Given the description of an element on the screen output the (x, y) to click on. 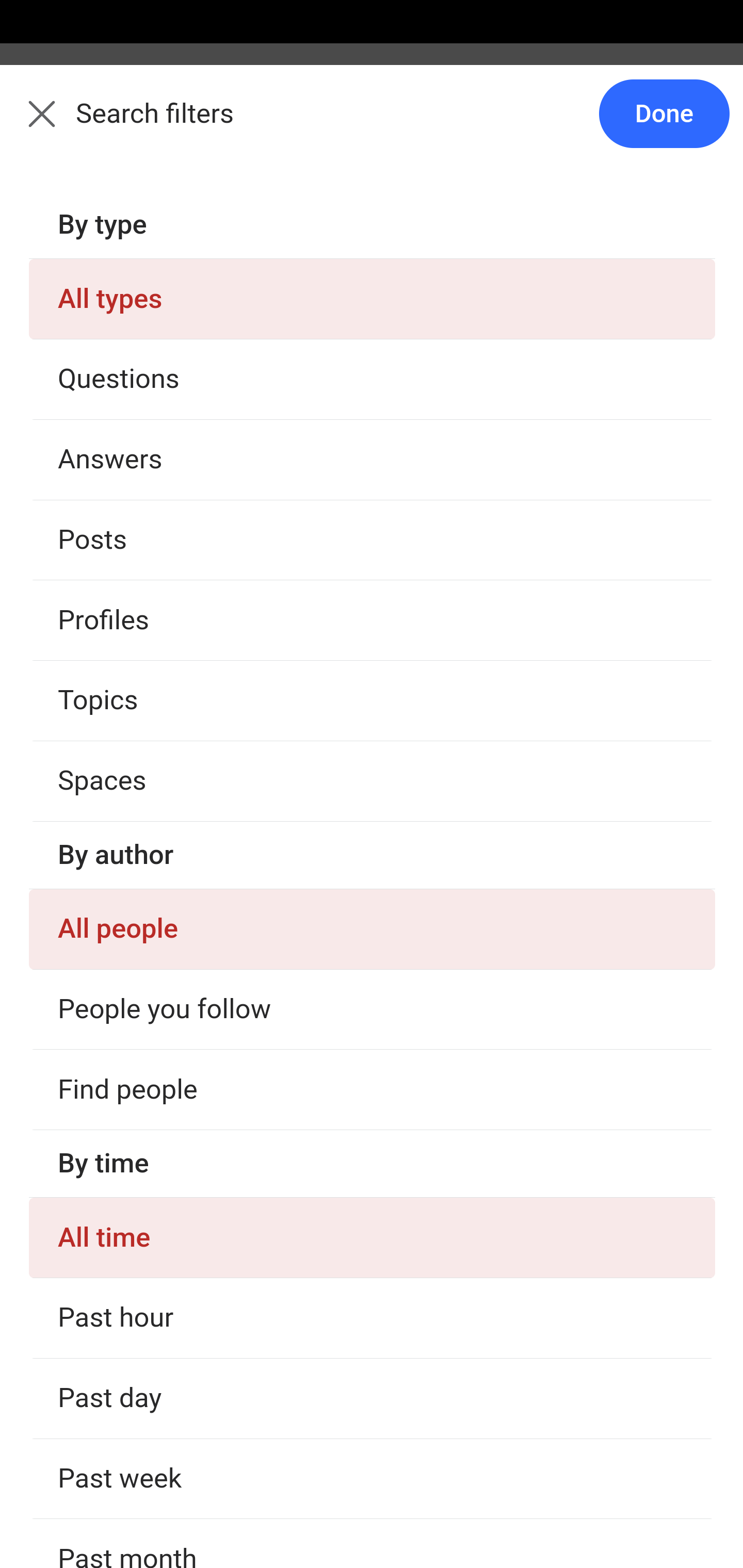
Back Search (371, 125)
Answer (125, 387)
Answer (125, 784)
Answer (125, 1179)
Answer (125, 1378)
